Given the description of an element on the screen output the (x, y) to click on. 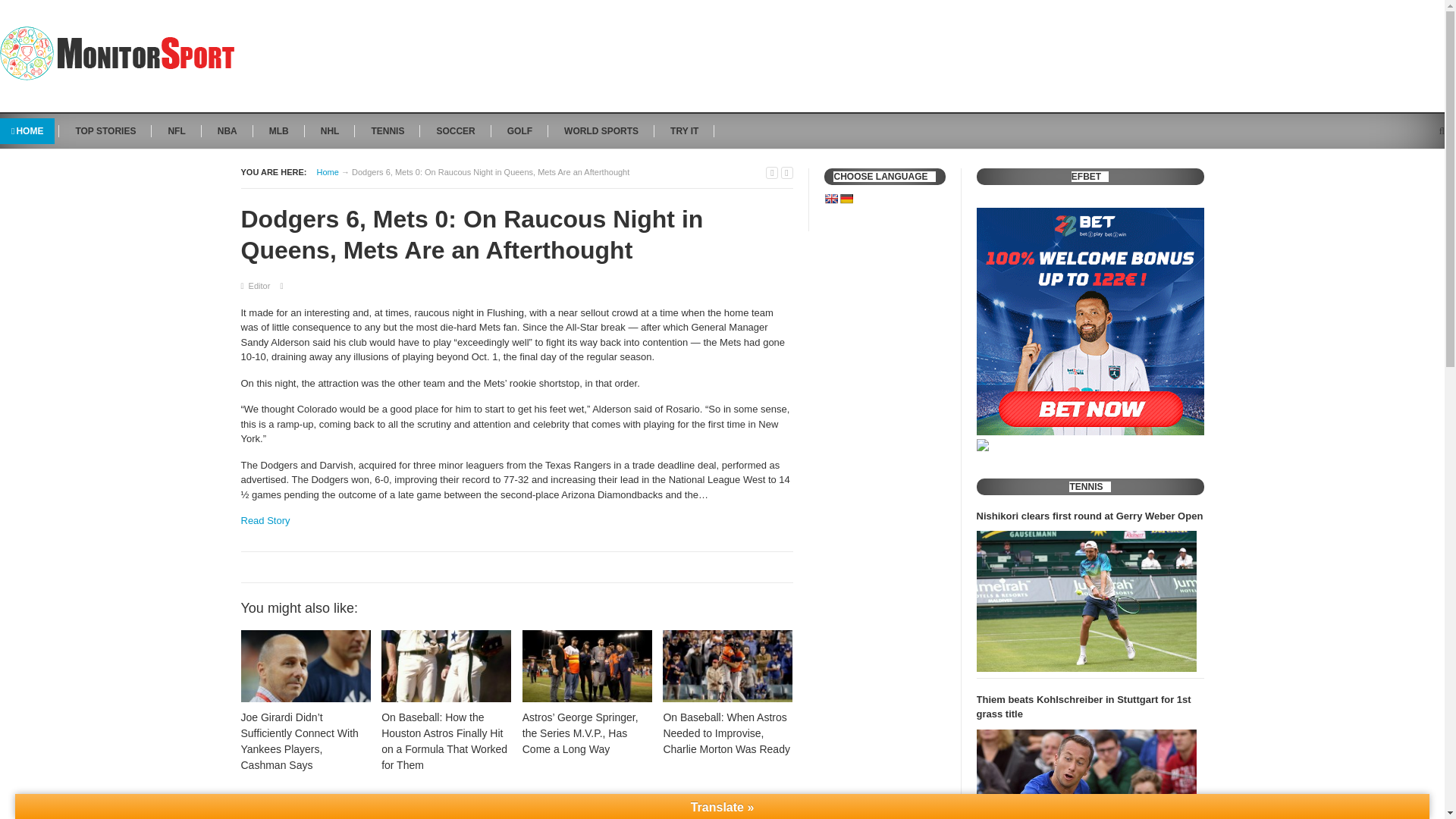
Thiem beats Kohlschreiber in Stuttgart for 1st grass title (1086, 774)
MonitorSport.com (328, 171)
MLB (278, 130)
Nishikori clears first round at Gerry Weber Open (1090, 515)
Editor (259, 285)
Previous Post (771, 172)
GOLF (519, 130)
Thiem beats Kohlschreiber in Stuttgart for 1st grass title (1090, 706)
SOCCER (455, 130)
NFL (175, 130)
